Given the description of an element on the screen output the (x, y) to click on. 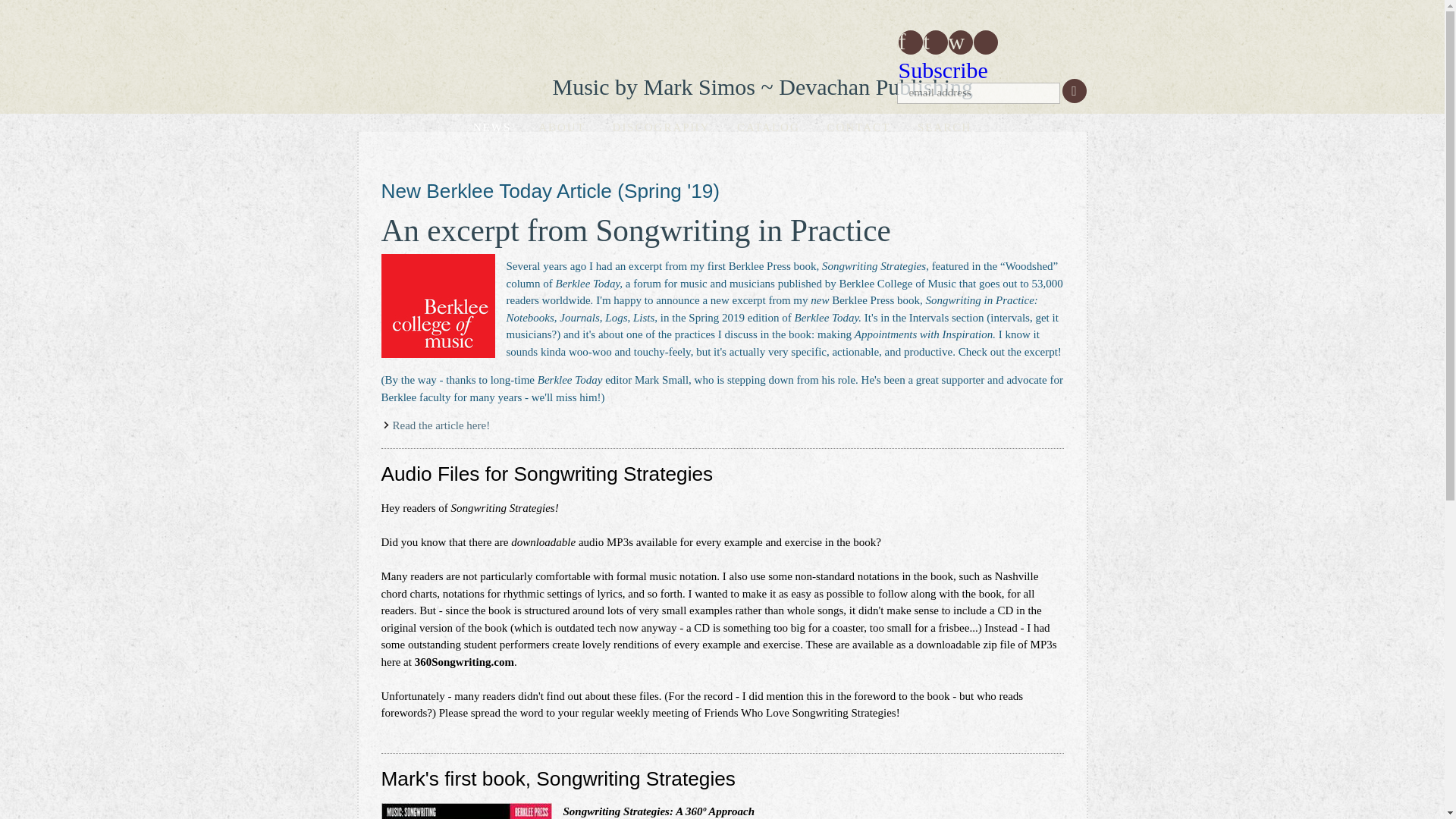
NEWS (491, 127)
CATALOG (767, 127)
SEARCH (943, 127)
Subscribe (942, 69)
CONTACT (858, 127)
GO (1073, 90)
ABOUT (561, 127)
Read the article here! (441, 425)
t (935, 42)
w (959, 42)
